Given the description of an element on the screen output the (x, y) to click on. 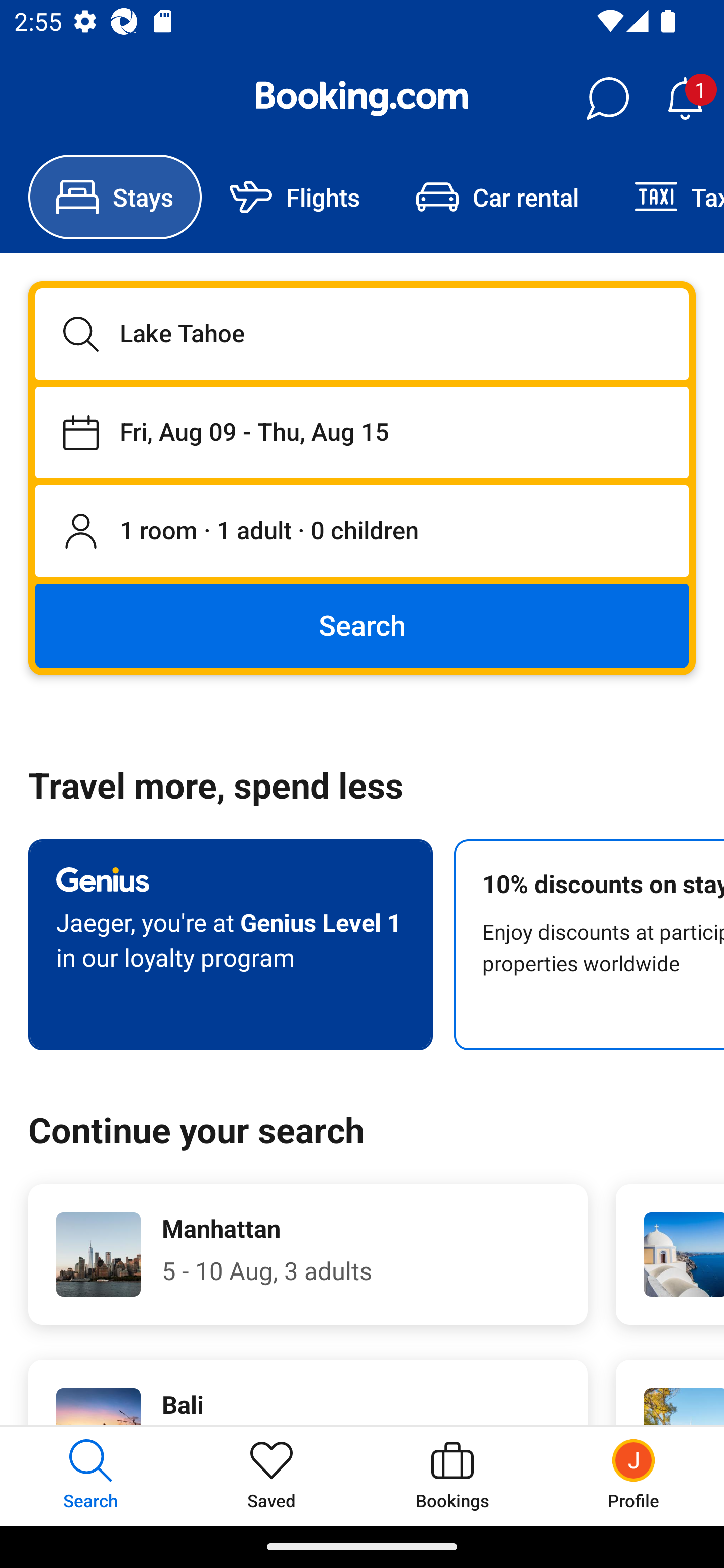
Messages (607, 98)
Notifications (685, 98)
Stays (114, 197)
Flights (294, 197)
Car rental (497, 197)
Taxi (665, 197)
Lake Tahoe (361, 333)
Staying from Fri, Aug 09 until Thu, Aug 15 (361, 432)
1 room, 1 adult, 0 children (361, 531)
Search (361, 625)
Manhattan 5 - 10 Aug, 3 adults (307, 1253)
Saved (271, 1475)
Bookings (452, 1475)
Profile (633, 1475)
